Given the description of an element on the screen output the (x, y) to click on. 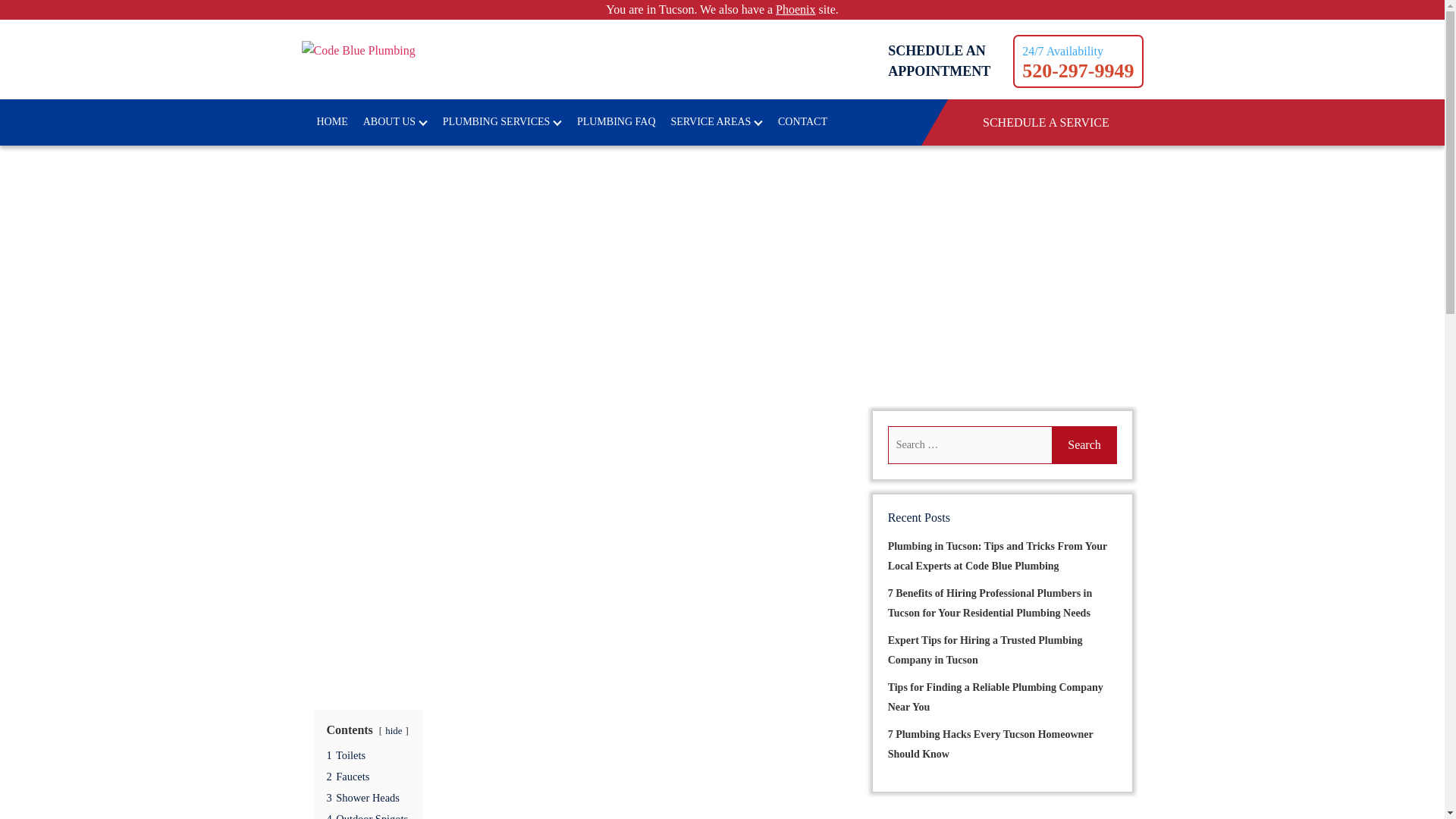
Phoenix (795, 9)
Search (1084, 444)
Search (1084, 444)
